Given the description of an element on the screen output the (x, y) to click on. 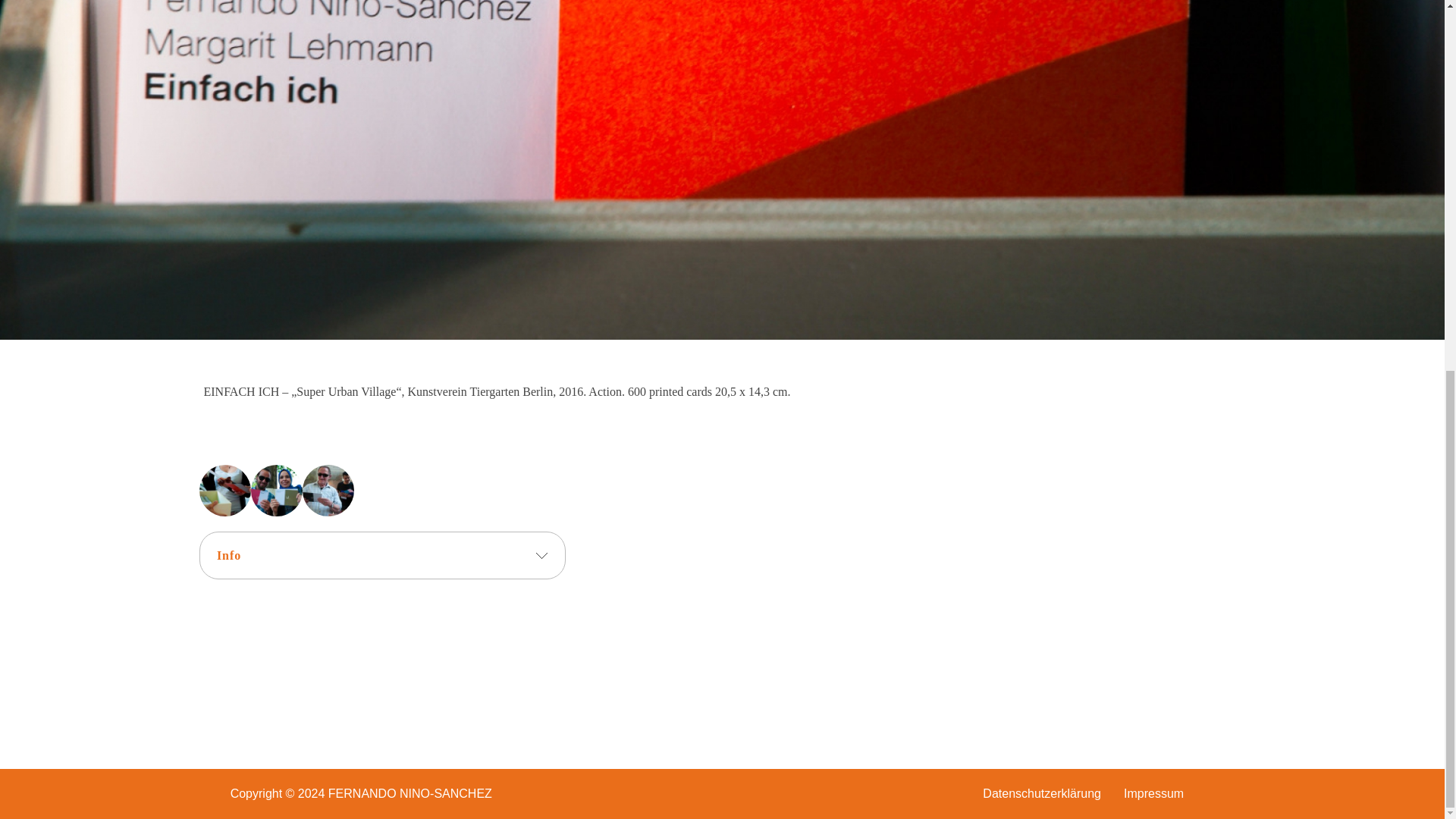
Impressum (1153, 793)
